Given the description of an element on the screen output the (x, y) to click on. 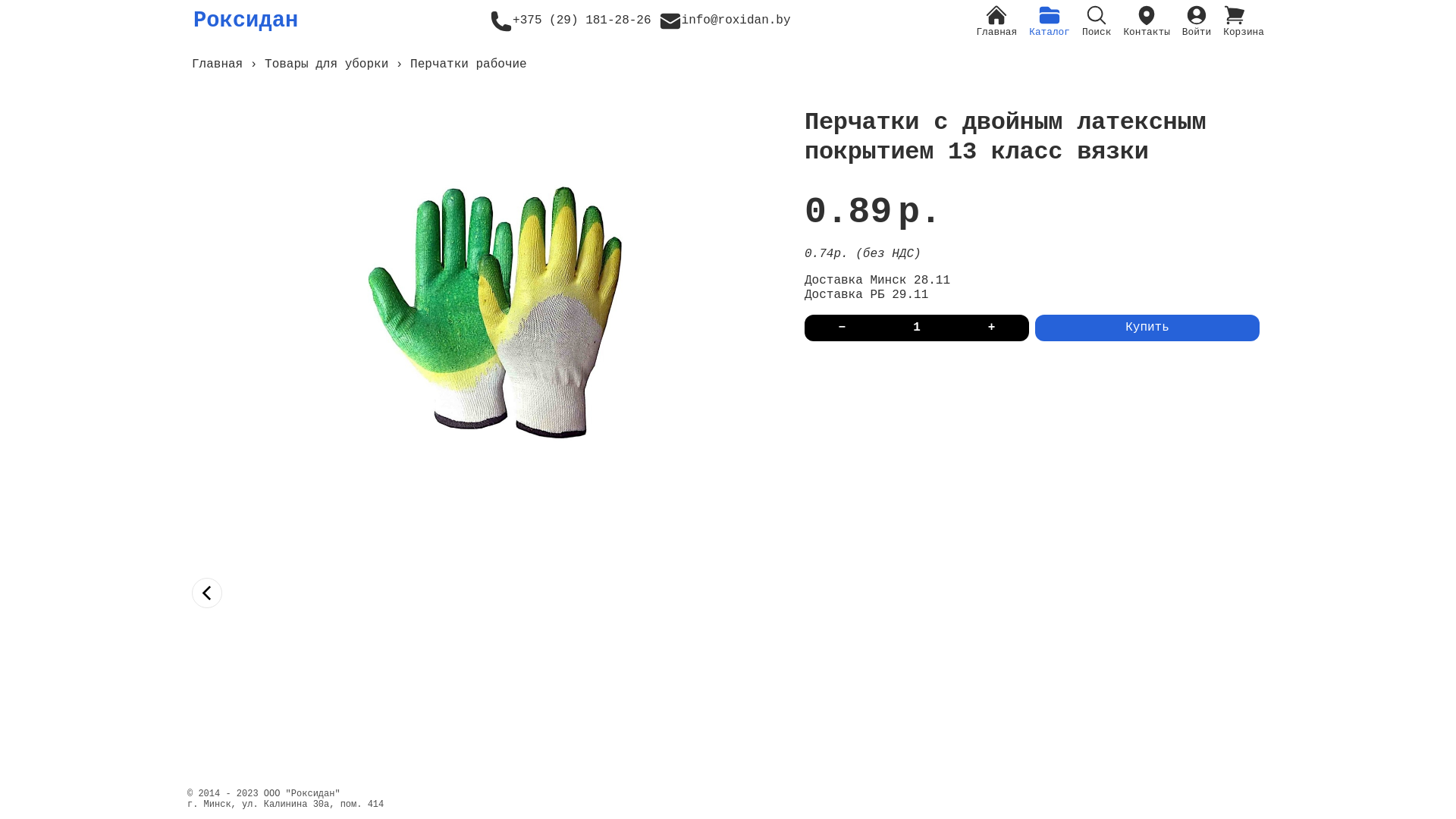
info@roxidan.by Element type: text (724, 20)
+375 (29) 181-28-26 Element type: text (569, 20)
